Given the description of an element on the screen output the (x, y) to click on. 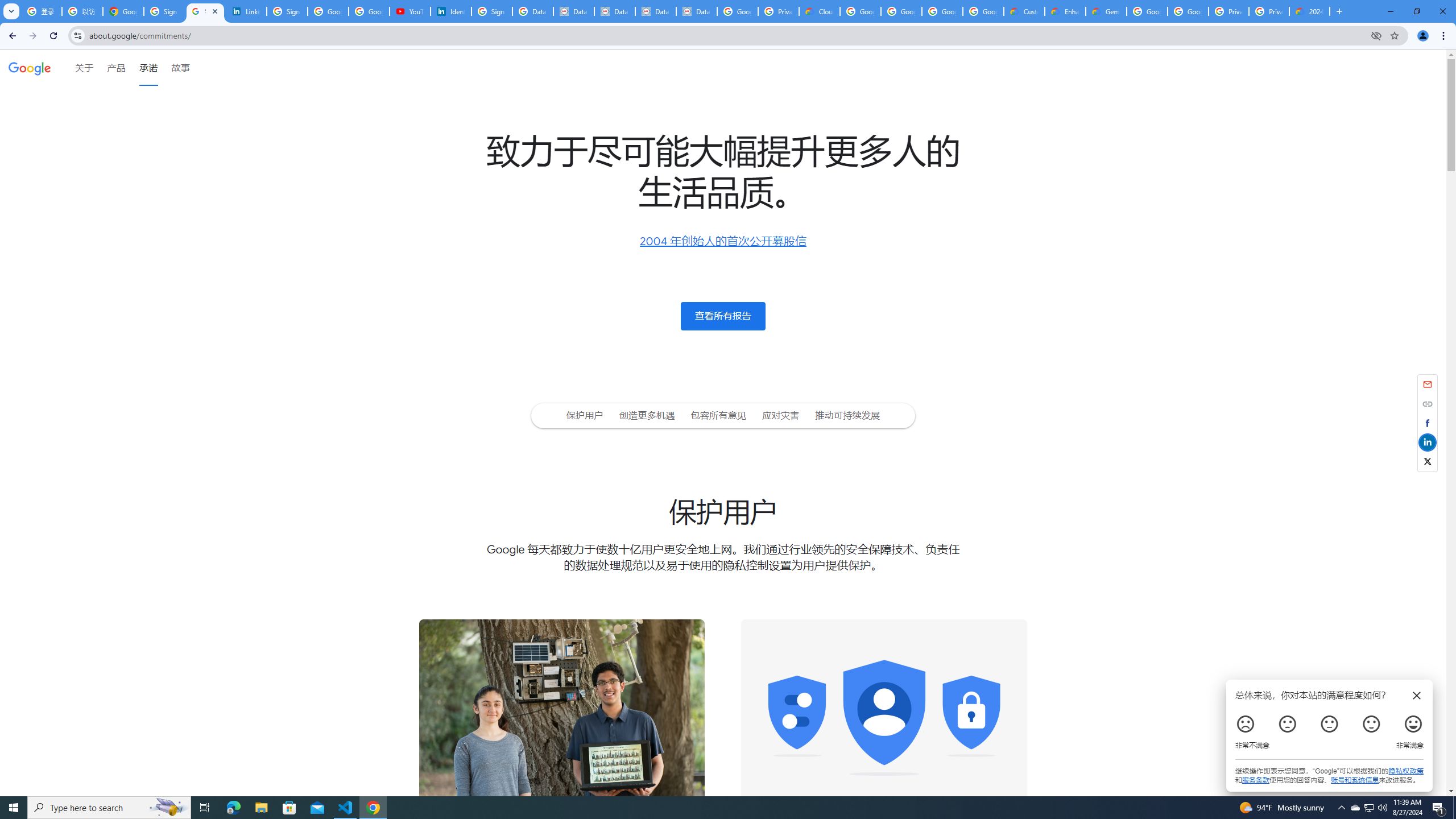
Customer Care | Google Cloud (1023, 11)
Google Cloud Platform (1187, 11)
LinkedIn Privacy Policy (246, 11)
Google Cloud Platform (1146, 11)
Gemini for Business and Developers | Google Cloud (1105, 11)
